Given the description of an element on the screen output the (x, y) to click on. 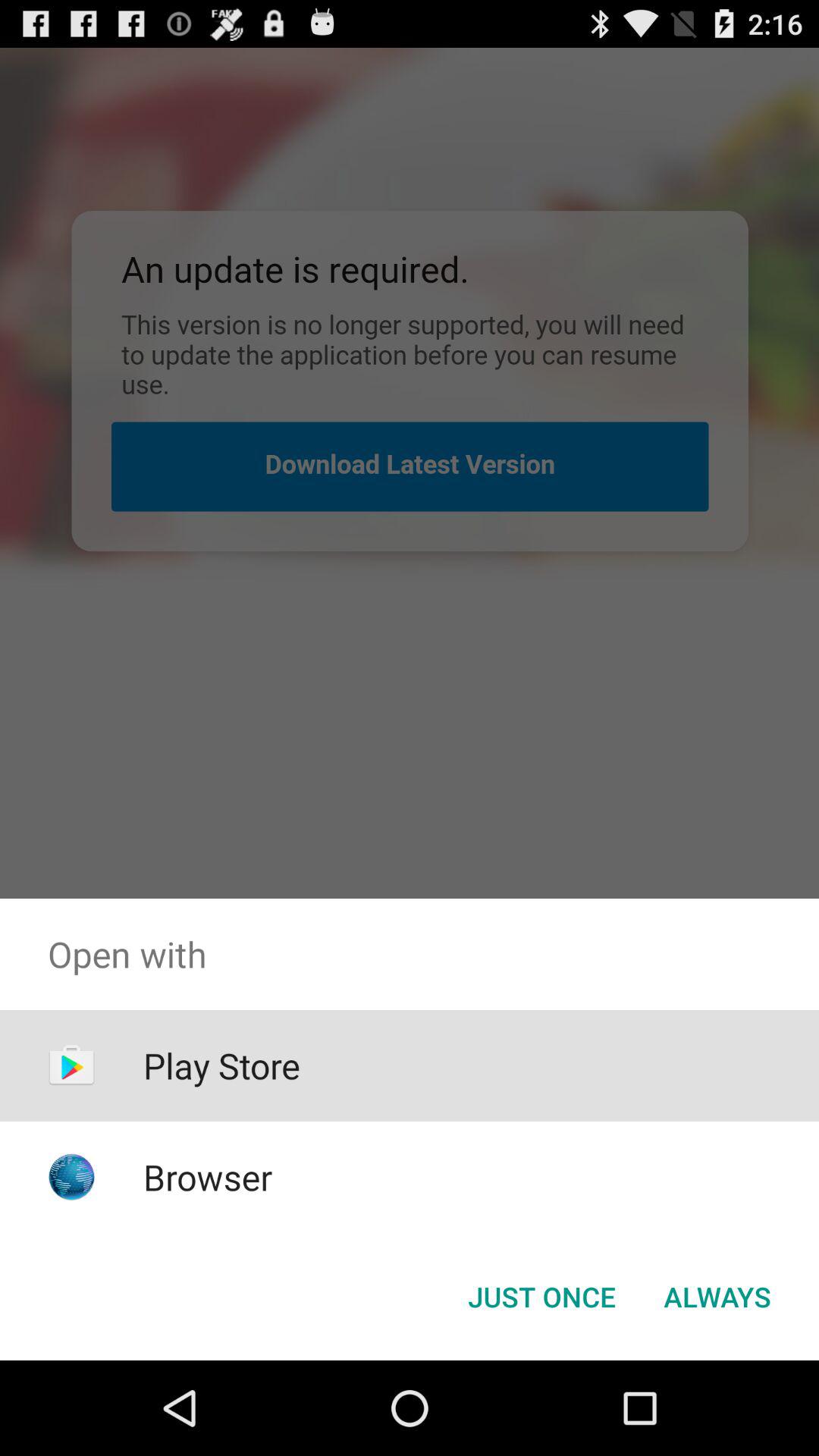
scroll to play store icon (221, 1065)
